Given the description of an element on the screen output the (x, y) to click on. 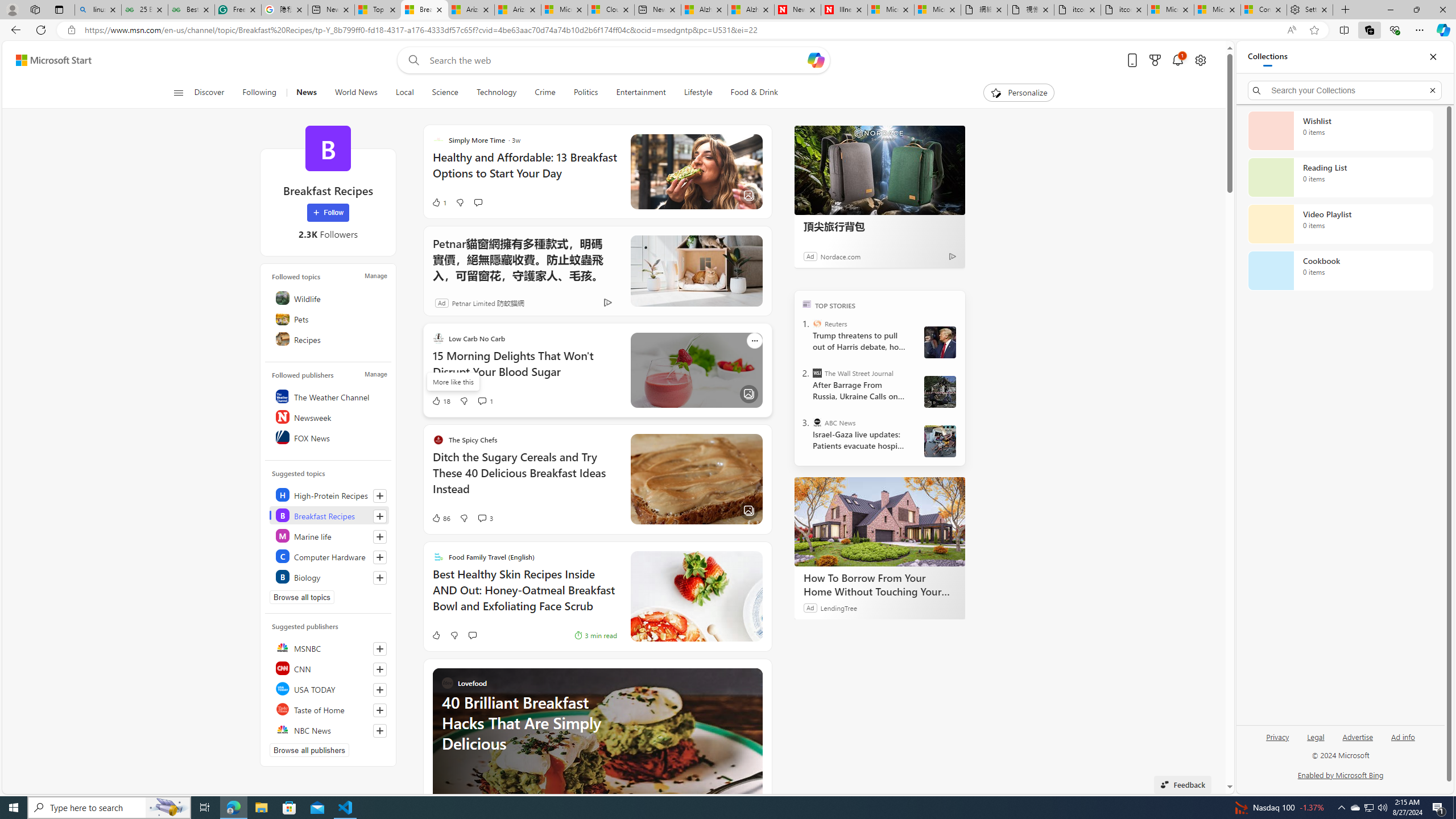
Open navigation menu (177, 92)
Technology (496, 92)
Feedback (1182, 784)
ABC News (816, 422)
Crime (545, 92)
The Weather Channel (328, 396)
To get missing image descriptions, open the context menu. (995, 92)
Notifications (1177, 60)
Manage (375, 374)
Microsoft rewards (1154, 60)
View comments 3 Comment (485, 517)
